Given the description of an element on the screen output the (x, y) to click on. 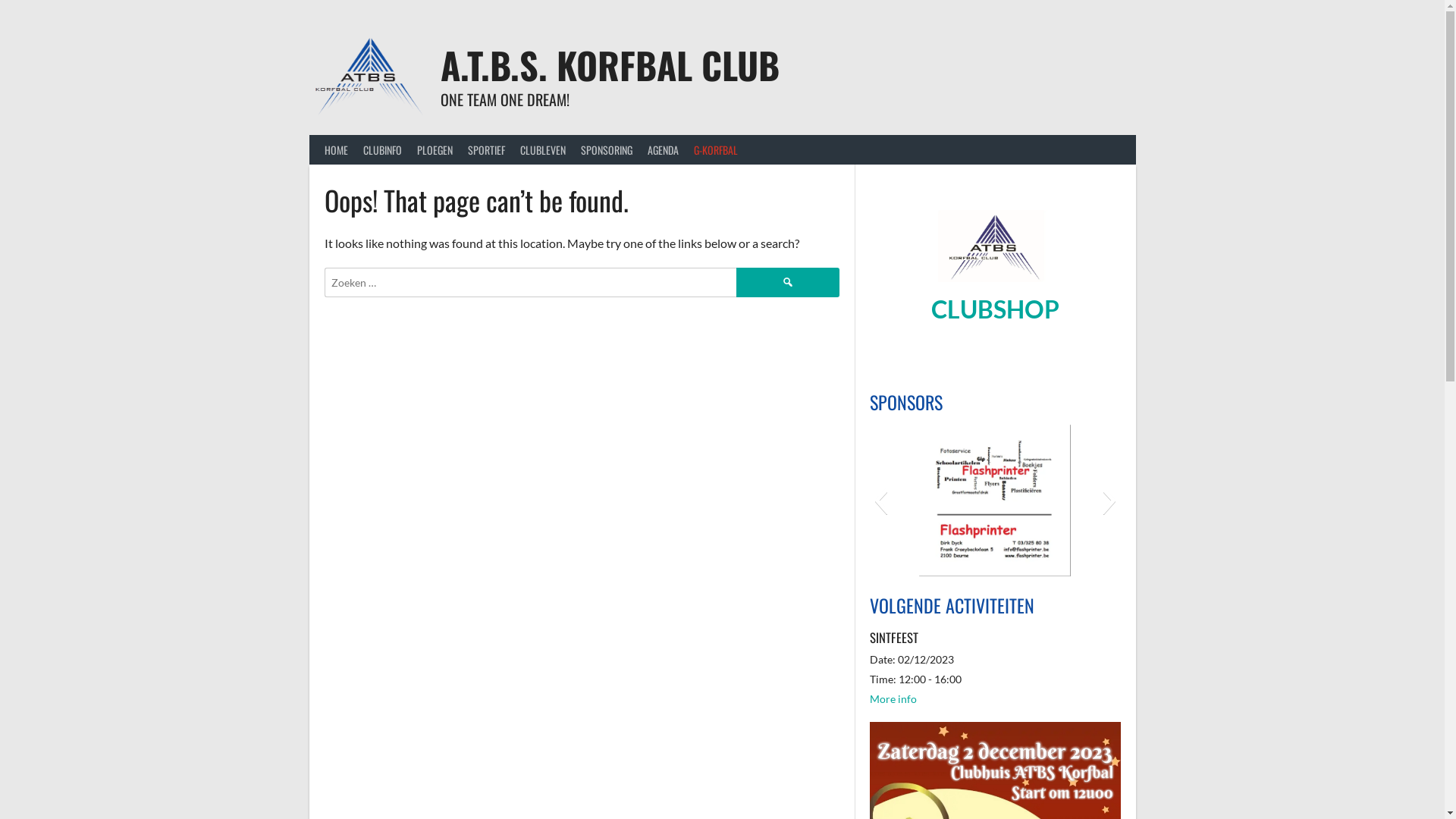
More info Element type: text (892, 698)
PLOEGEN Element type: text (434, 149)
CLUBINFO Element type: text (381, 149)
G-KORFBAL Element type: text (714, 149)
SPONSORING Element type: text (606, 149)
SPORTIEF Element type: text (485, 149)
CLUBLEVEN Element type: text (542, 149)
A.T.B.S. KORFBAL CLUB Element type: text (609, 64)
CLUBSHOP Element type: text (995, 308)
Zoeken Element type: hover (787, 281)
AGENDA Element type: text (663, 149)
HOME Element type: text (335, 149)
